Given the description of an element on the screen output the (x, y) to click on. 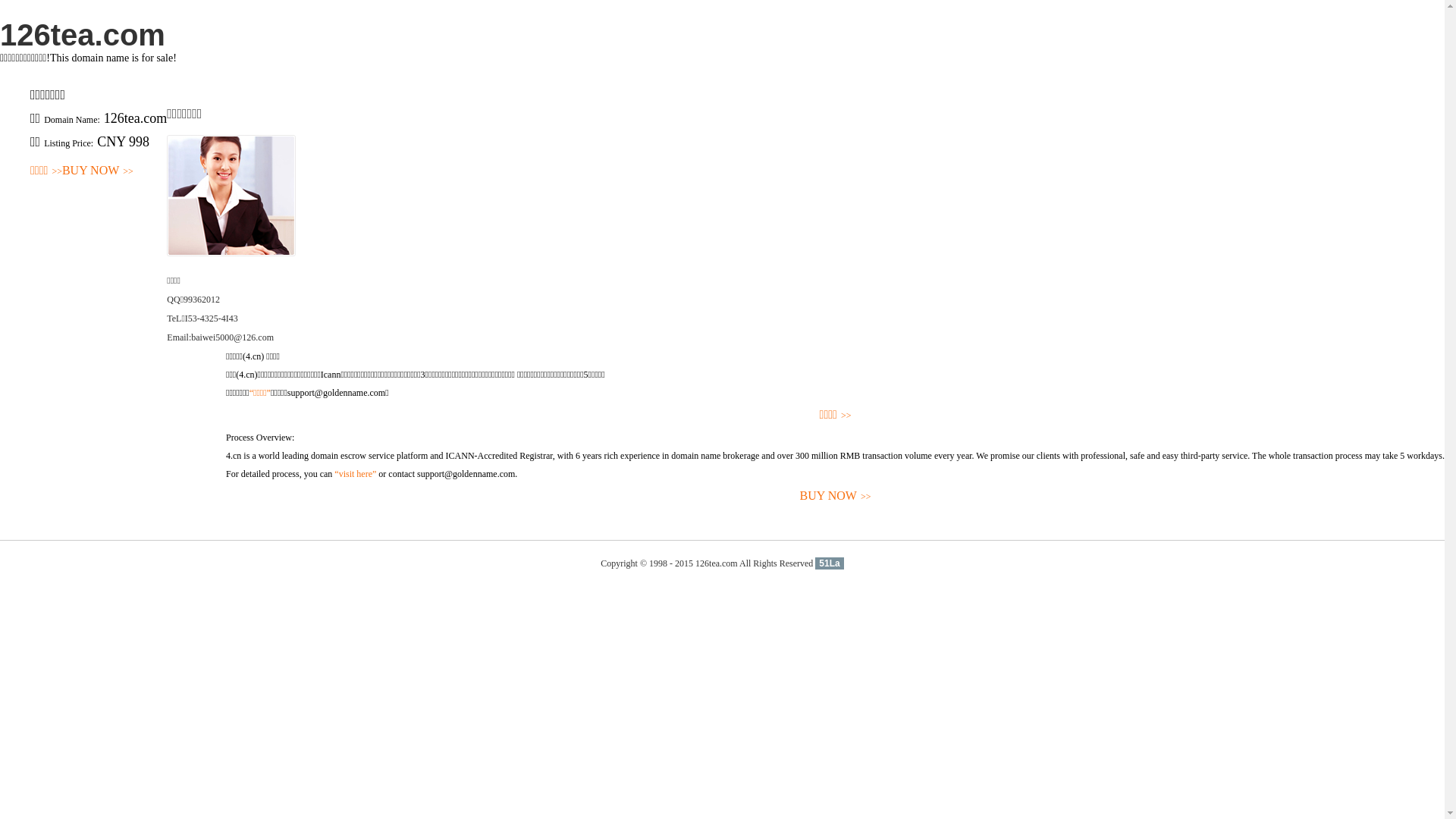
BUY NOW>> Element type: text (97, 170)
BUY NOW>> Element type: text (834, 496)
51La Element type: text (829, 563)
